Given the description of an element on the screen output the (x, y) to click on. 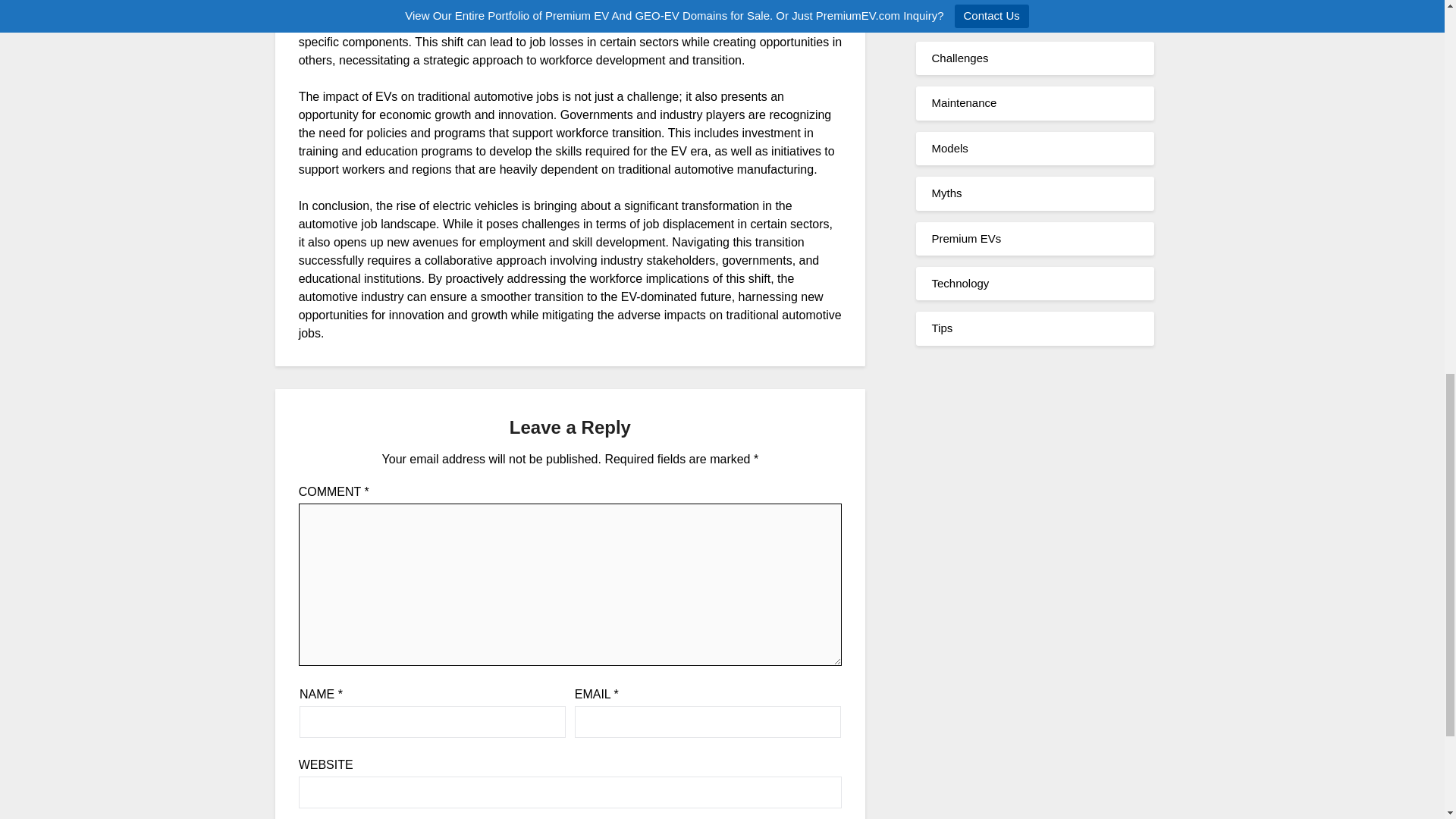
Challenges (959, 57)
Models (949, 147)
Tips (941, 327)
Myths (945, 192)
Premium EVs (966, 237)
Maintenance (963, 102)
Technology (959, 282)
